Given the description of an element on the screen output the (x, y) to click on. 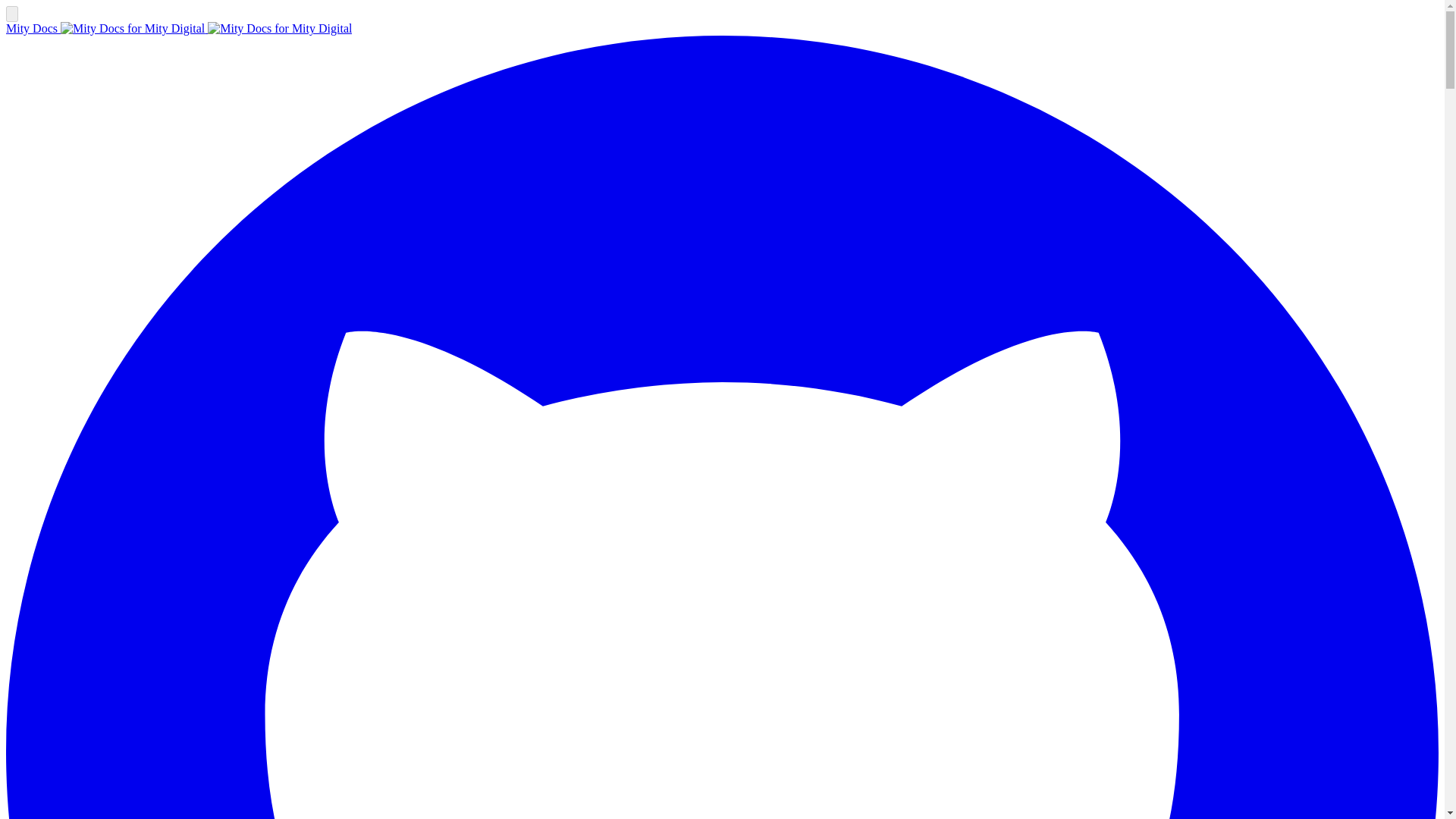
Mity Docs (178, 28)
